Given the description of an element on the screen output the (x, y) to click on. 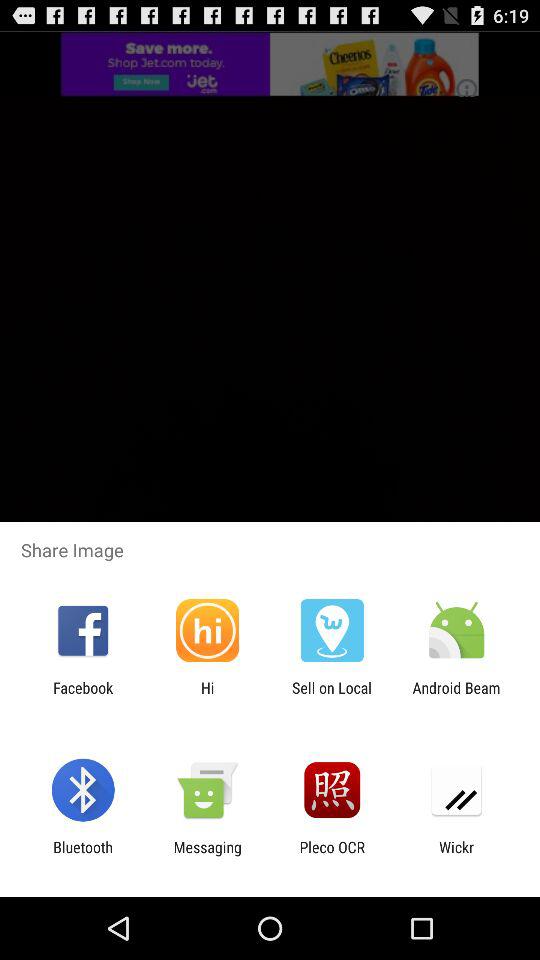
scroll until the bluetooth app (82, 856)
